Given the description of an element on the screen output the (x, y) to click on. 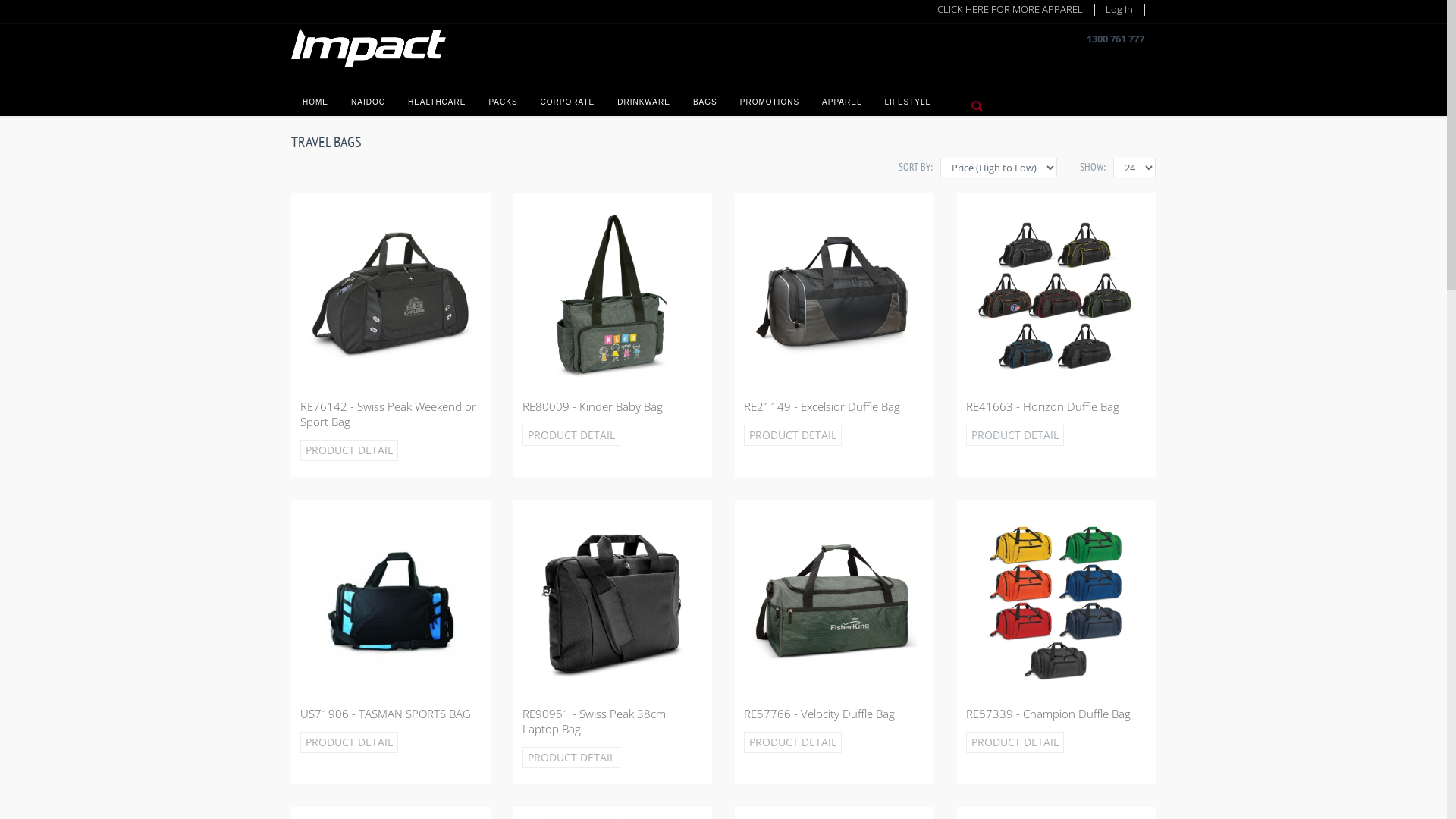
PRODUCT DETAIL Element type: text (792, 742)
RE21149 - Excelsior Duffle Bag Element type: text (821, 406)
Log In Element type: text (1118, 8)
PROMOTIONS Element type: text (769, 93)
RE57339 - Champion Duffle Bag Element type: text (1048, 713)
CLICK HERE FOR MORE APPAREL Element type: text (1009, 8)
RE90951 - Swiss Peak 38cm Laptop Bag Element type: text (593, 721)
PRODUCT DETAIL Element type: text (570, 434)
HOME Element type: text (315, 93)
BAGS Element type: text (704, 93)
PRODUCT DETAIL Element type: text (349, 450)
NAIDOC Element type: text (367, 93)
PACKS Element type: text (502, 93)
CORPORATE Element type: text (567, 93)
PRODUCT DETAIL Element type: text (1014, 434)
PRODUCT DETAIL Element type: text (349, 742)
APPAREL Element type: text (841, 93)
RE57766 - Velocity Duffle Bag Element type: text (818, 713)
RE76142 - Swiss Peak Weekend or Sport Bag Element type: text (388, 413)
DRINKWARE Element type: text (643, 93)
RE80009 - Kinder Baby Bag Element type: text (591, 406)
PRODUCT DETAIL Element type: text (570, 757)
LIFESTYLE Element type: text (907, 93)
PRODUCT DETAIL Element type: text (792, 434)
RE41663 - Horizon Duffle Bag Element type: text (1042, 406)
US71906 - TASMAN SPORTS BAG Element type: text (385, 713)
PRODUCT DETAIL Element type: text (1014, 742)
HEALTHCARE Element type: text (436, 93)
